Given the description of an element on the screen output the (x, y) to click on. 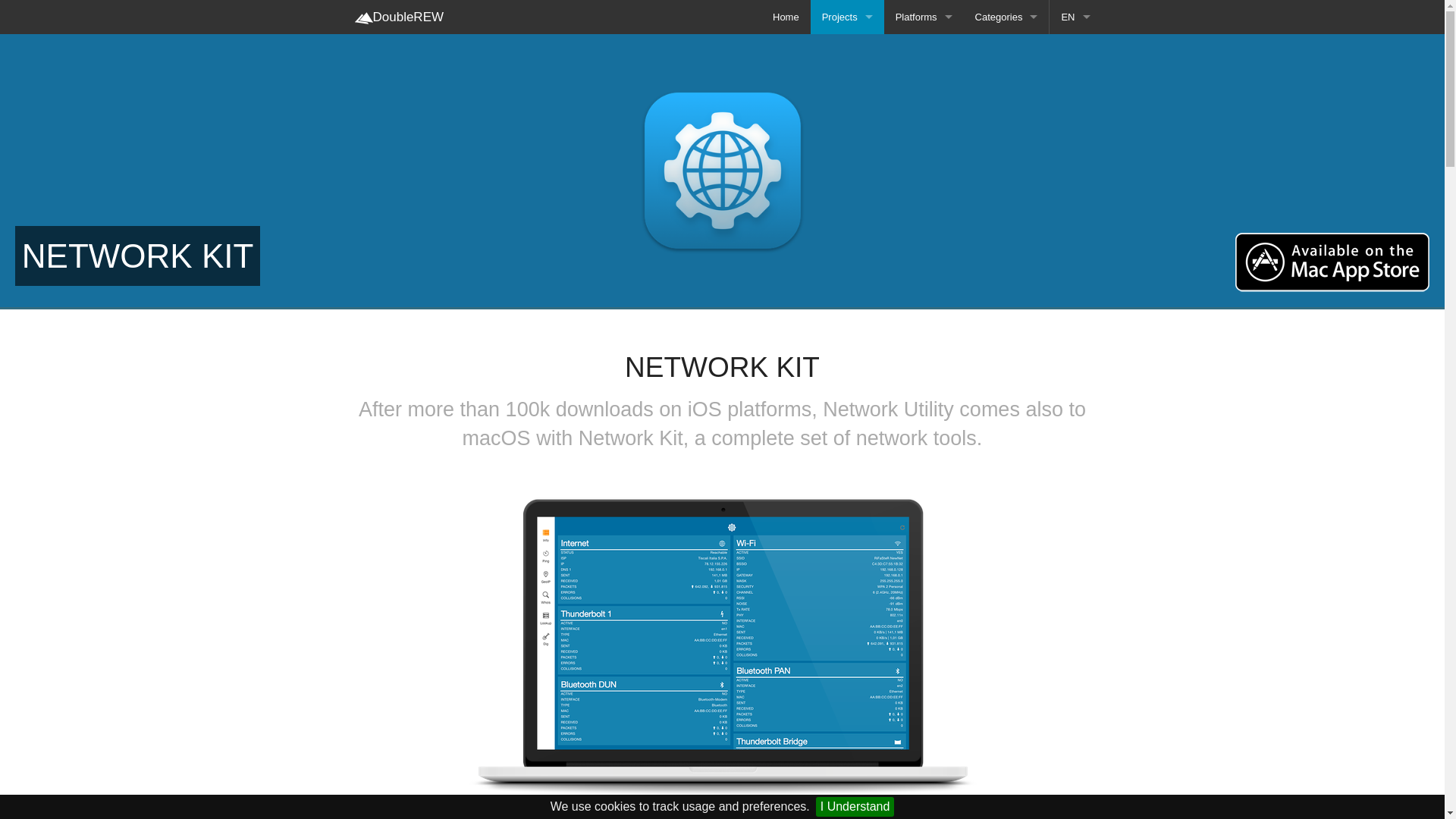
Download now Network Kit (1331, 261)
Projects (846, 17)
DoubleREW (363, 18)
RAP: Random Audio Player (846, 358)
Network Utility (846, 255)
Network Kit (846, 221)
Platforms (923, 17)
Atomic Lumen (846, 50)
PPI Calc (846, 289)
iOS (923, 84)
SteganoGame (846, 392)
DoubleREW (398, 17)
QuickContacts (846, 324)
Apple TV (923, 50)
EN (1074, 17)
